Given the description of an element on the screen output the (x, y) to click on. 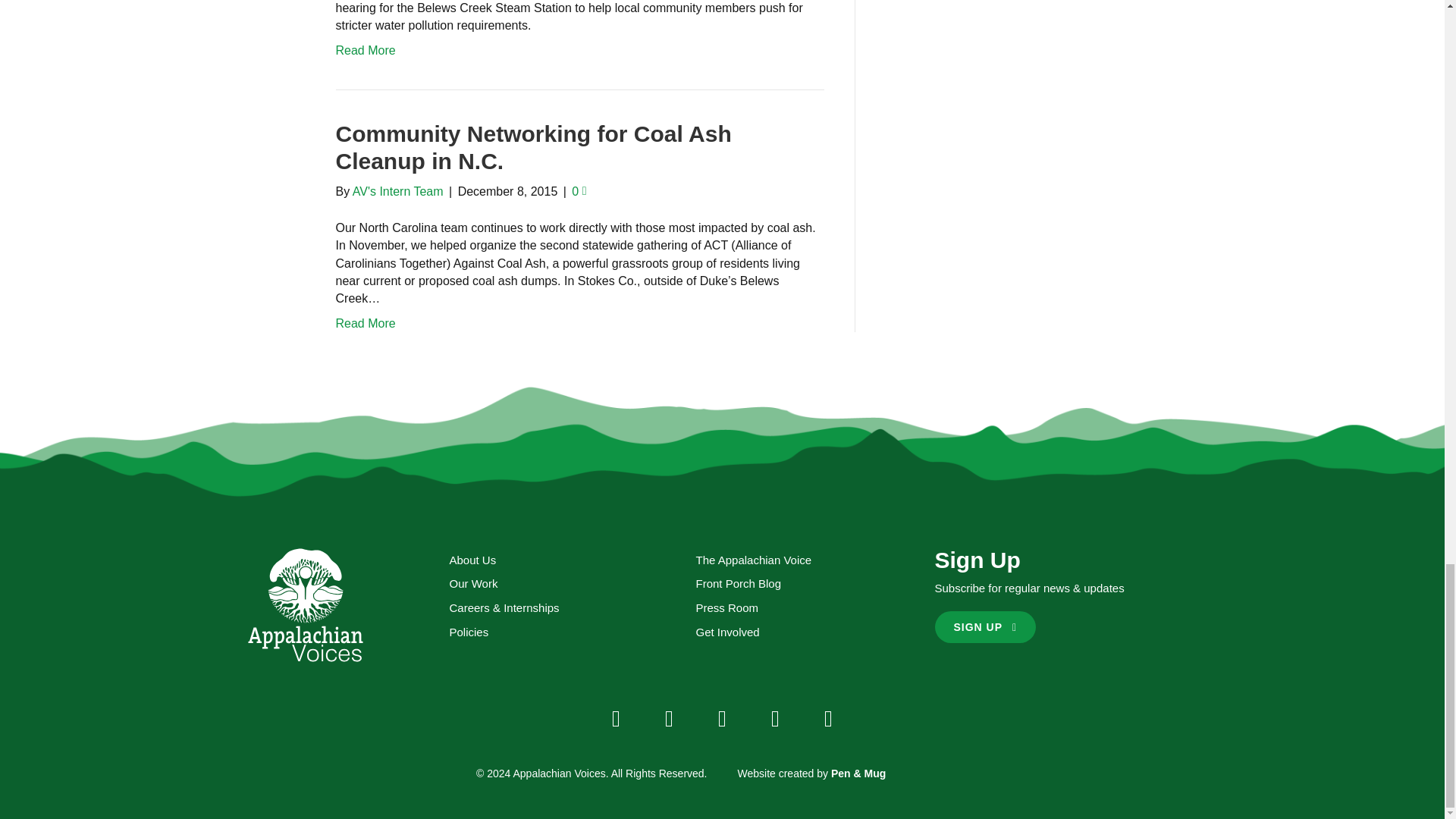
Facebook (615, 719)
AppVoices-logo-stacked-white (304, 604)
YouTube (774, 719)
Instagram (721, 719)
Community Networking for Coal Ash Cleanup in N.C. (532, 147)
